Given the description of an element on the screen output the (x, y) to click on. 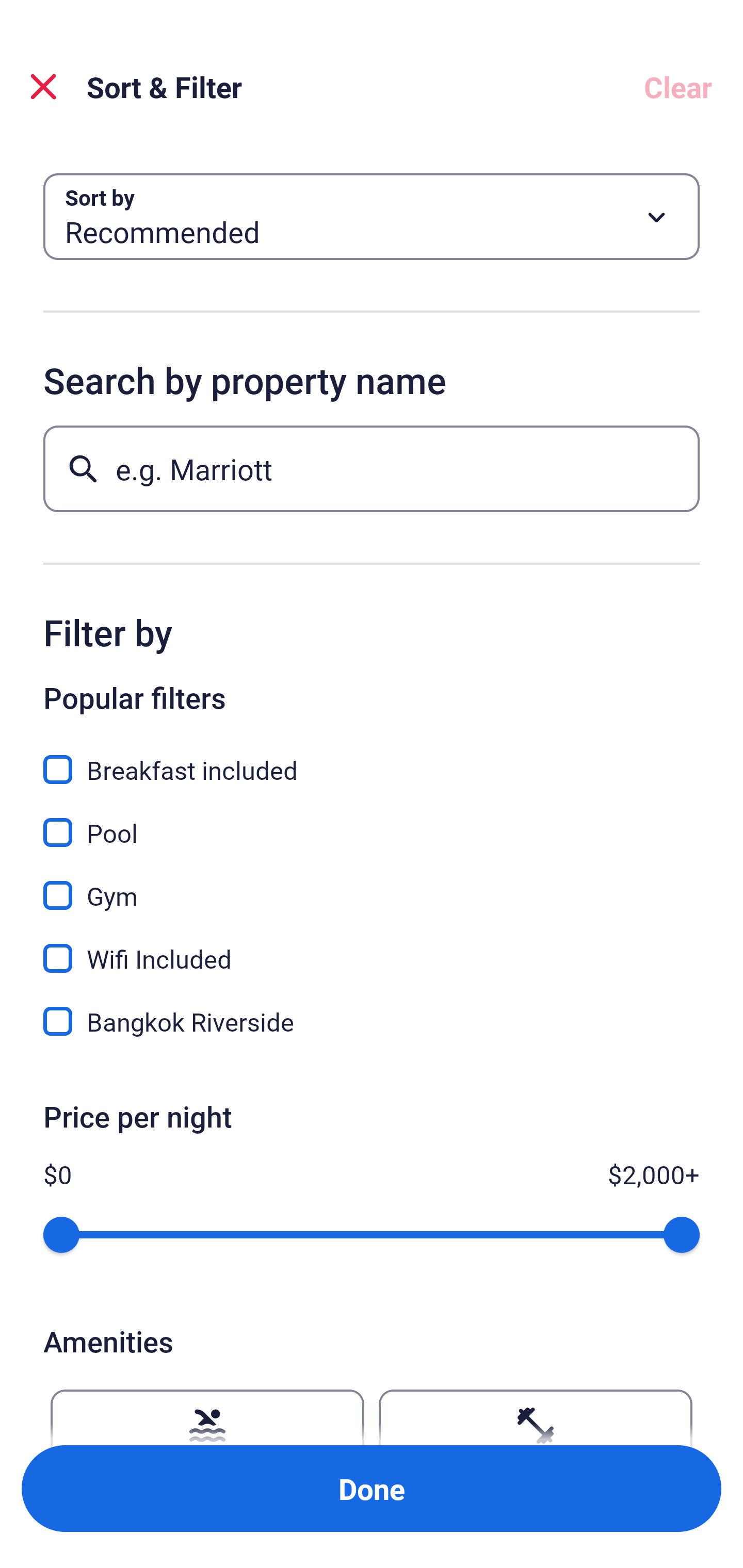
Close Sort and Filter (43, 86)
Clear (677, 86)
Sort by Button Recommended (371, 217)
e.g. Marriott Button (371, 468)
Breakfast included, Breakfast included (371, 757)
Pool, Pool (371, 821)
Gym, Gym (371, 883)
Wifi Included, Wifi Included (371, 946)
Bangkok Riverside, Bangkok Riverside (371, 1021)
Apply and close Sort and Filter Done (371, 1488)
